Given the description of an element on the screen output the (x, y) to click on. 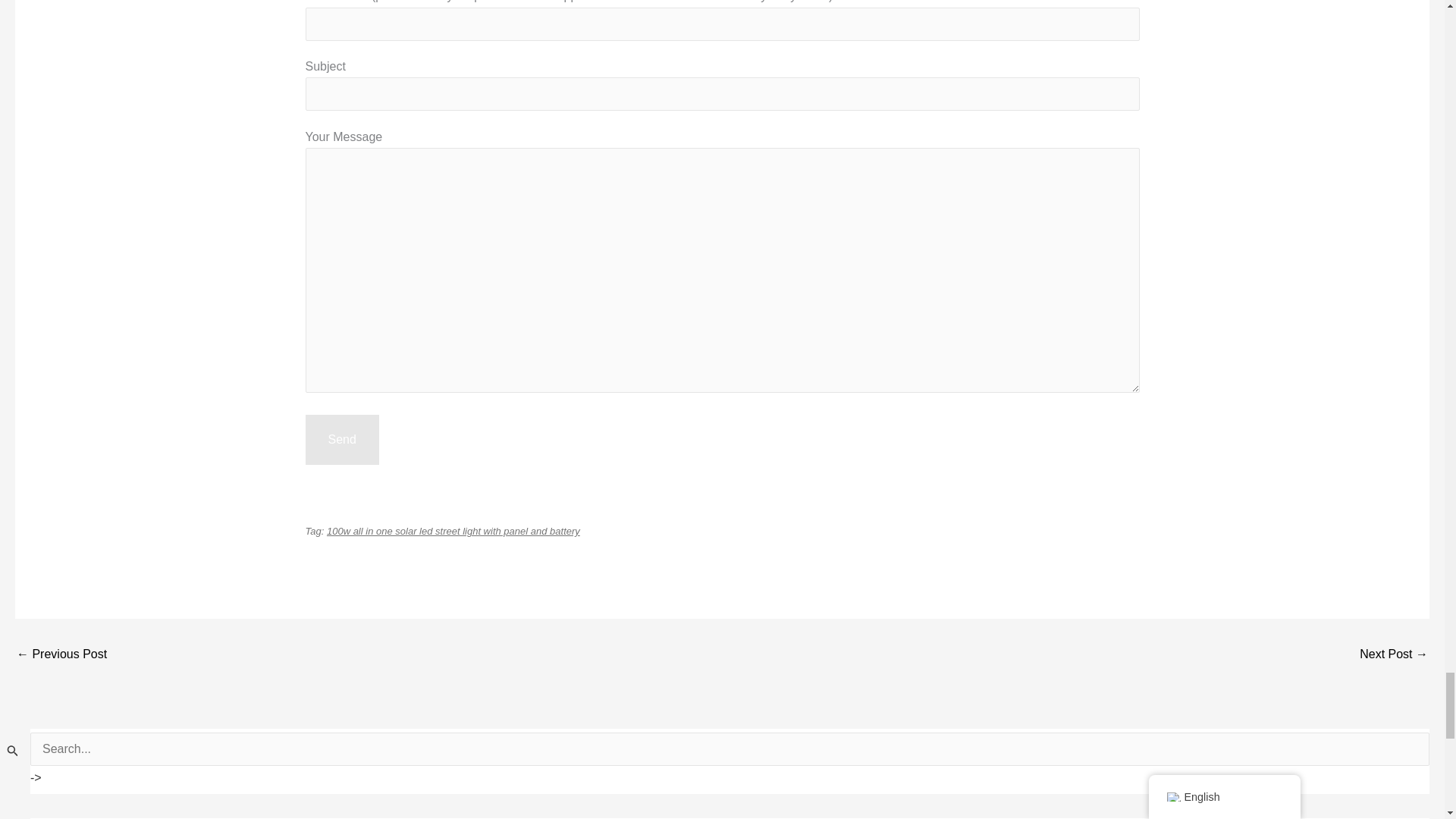
Send (341, 439)
